Given the description of an element on the screen output the (x, y) to click on. 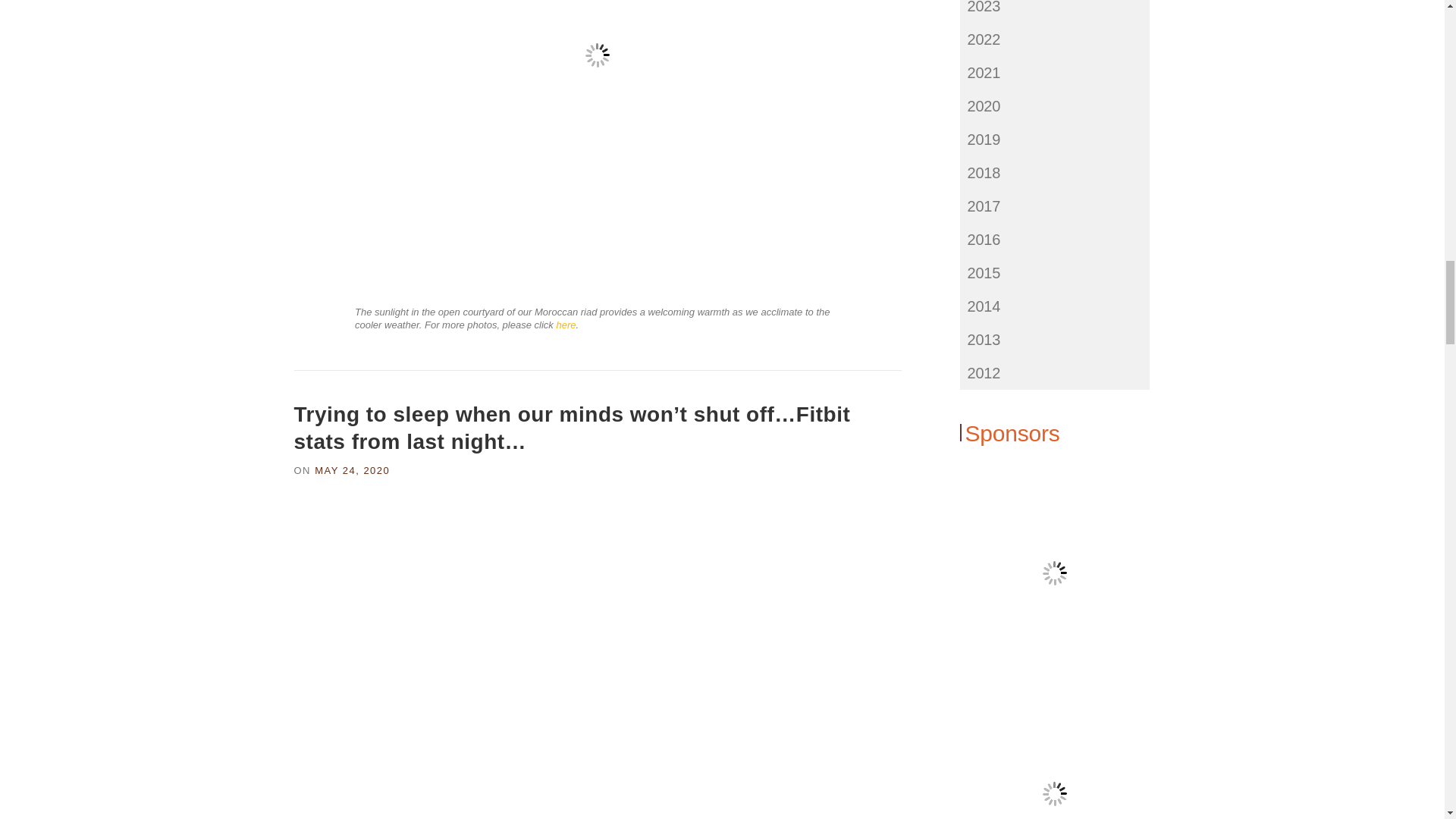
here (565, 324)
MAY 24, 2020 (352, 470)
